Given the description of an element on the screen output the (x, y) to click on. 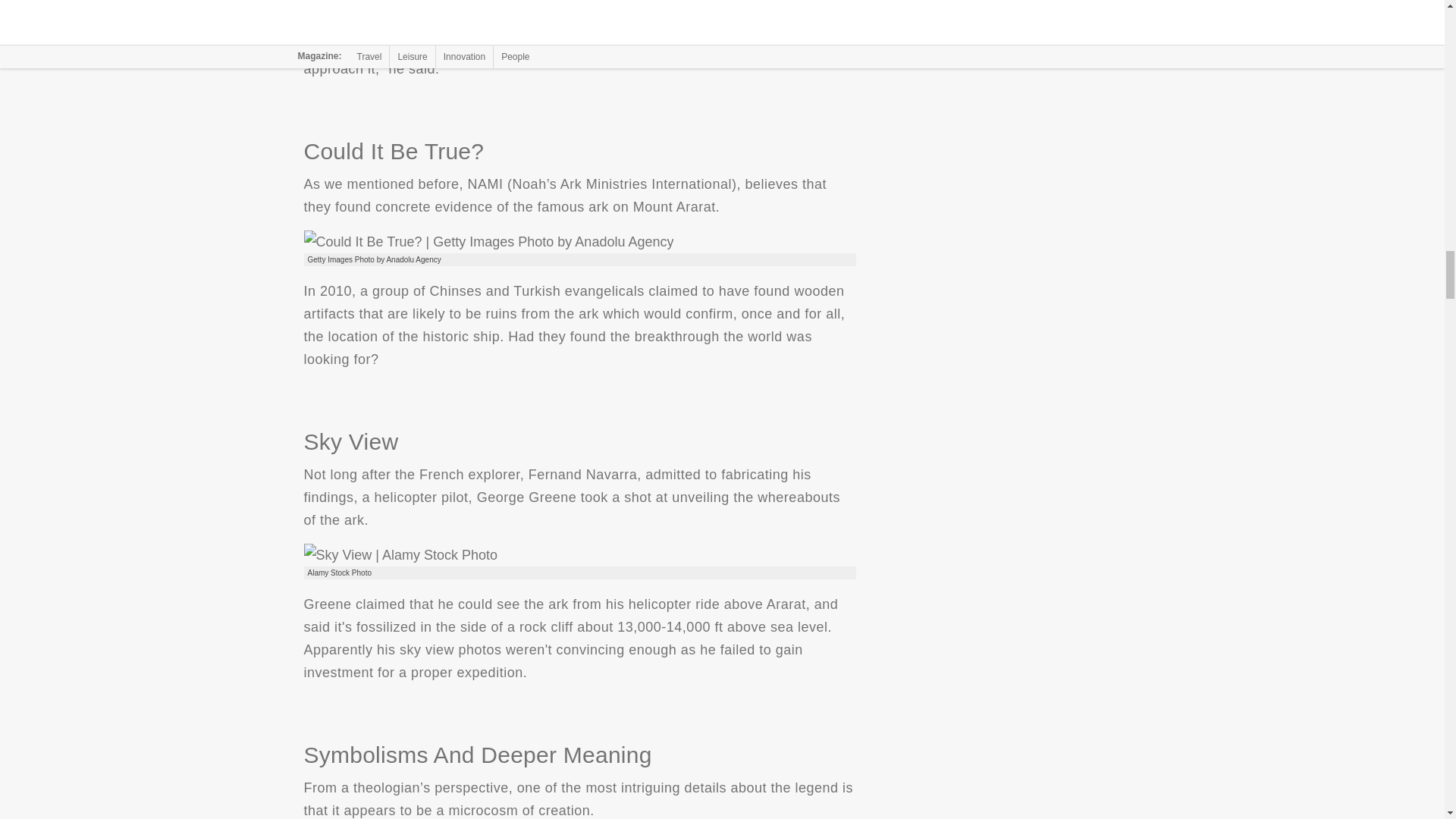
Could It Be True? (487, 241)
Sky View (399, 554)
